Given the description of an element on the screen output the (x, y) to click on. 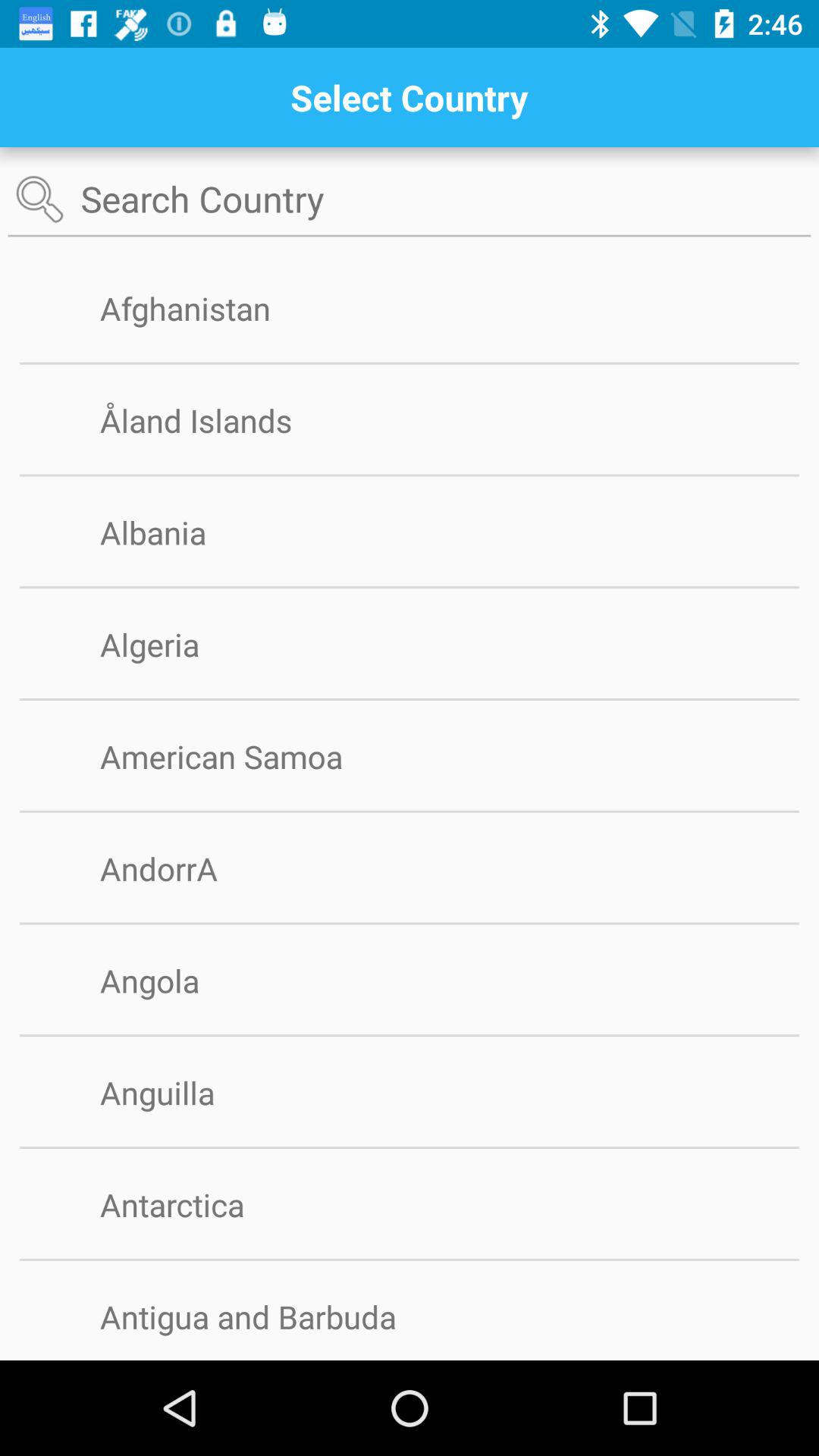
search country (409, 199)
